Given the description of an element on the screen output the (x, y) to click on. 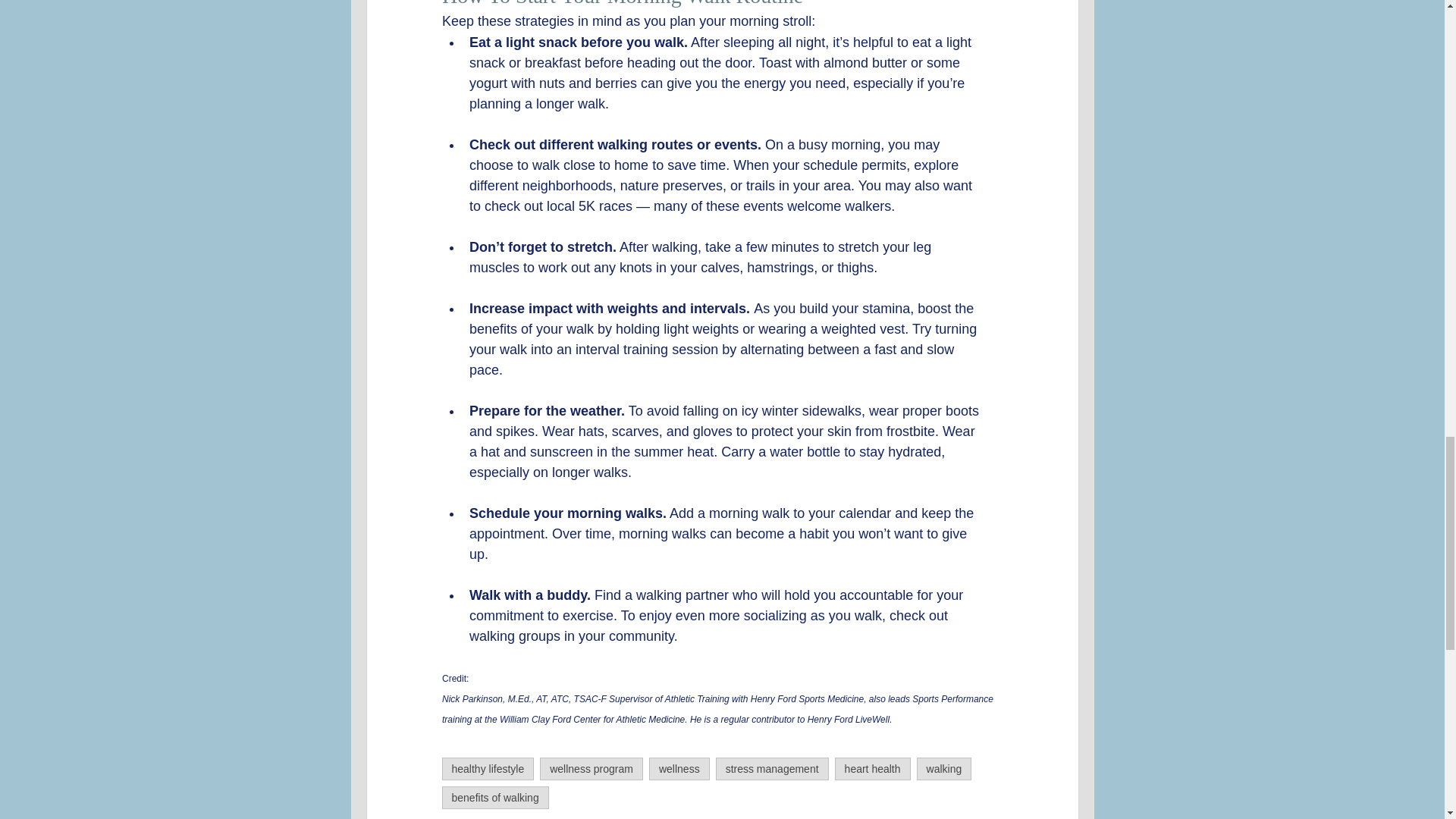
wellness program (591, 768)
stress management (772, 768)
walking (944, 768)
healthy lifestyle (487, 768)
wellness (679, 768)
benefits of walking (494, 797)
heart health (872, 768)
